Given the description of an element on the screen output the (x, y) to click on. 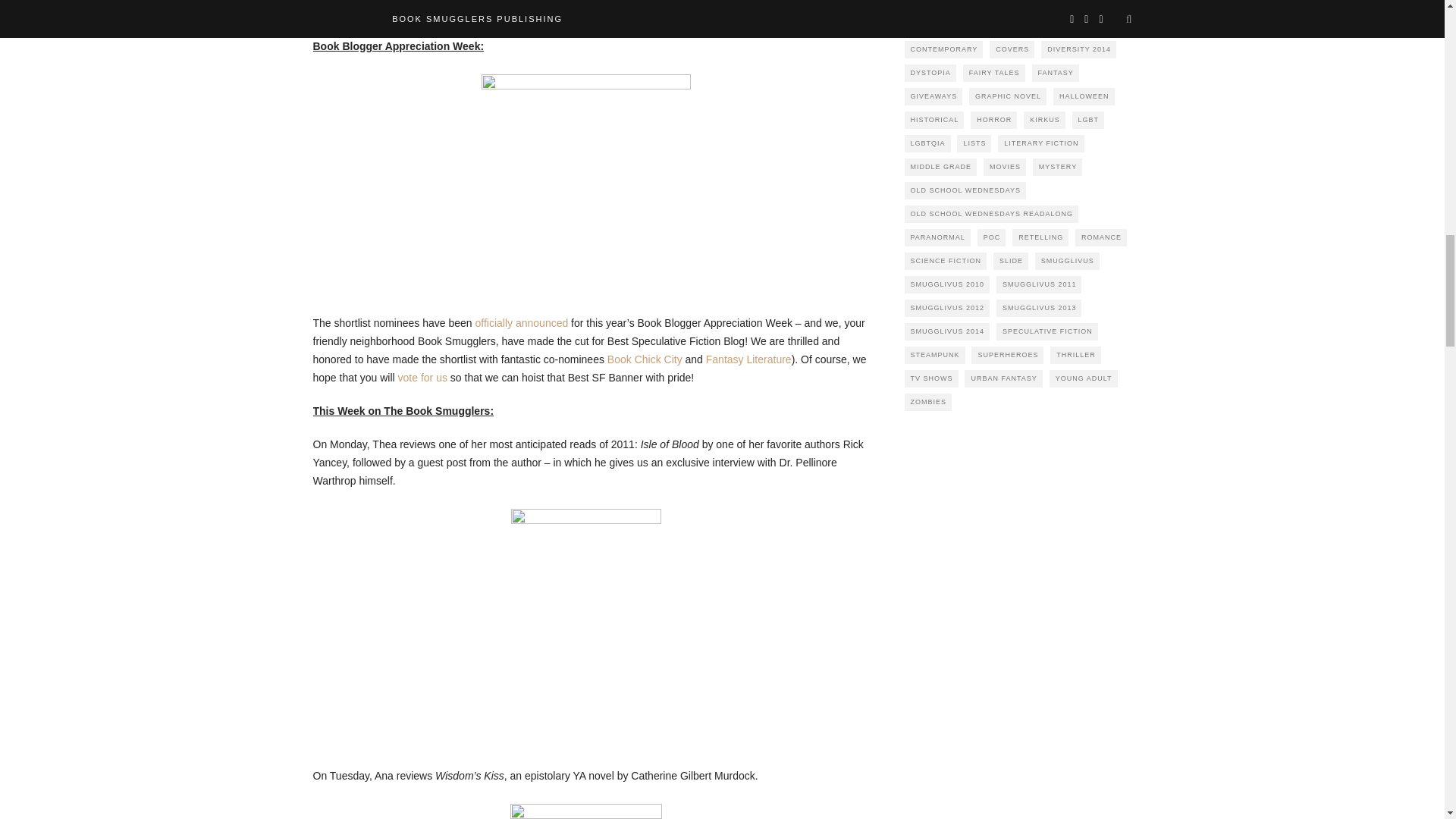
Fantasy Literature (749, 358)
BBAW Best SF Blog (585, 178)
vote for us (421, 377)
Wisdom's Kiss (585, 811)
Book Chick City (644, 358)
officially announced (522, 322)
